Given the description of an element on the screen output the (x, y) to click on. 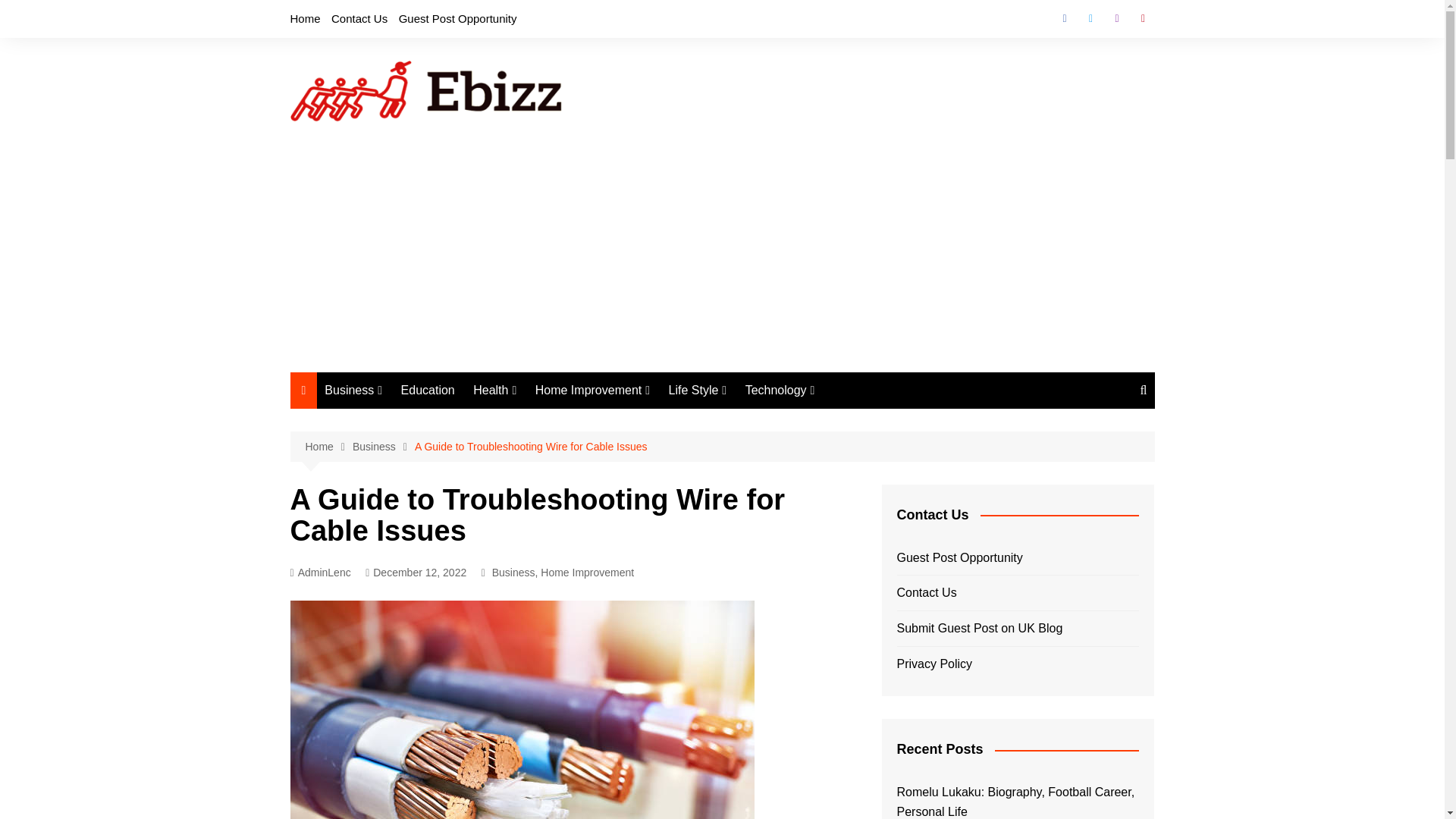
CBD (548, 471)
Home Improvement (592, 390)
Dining (610, 471)
Forex (400, 496)
Education (428, 390)
Finance (400, 471)
Pest Control (610, 520)
Food (548, 496)
News (400, 545)
Twitter (1091, 18)
Bitcoin (400, 421)
Real Estate (610, 545)
SEO (400, 570)
Insurance (400, 520)
Air Conditioner (610, 421)
